Given the description of an element on the screen output the (x, y) to click on. 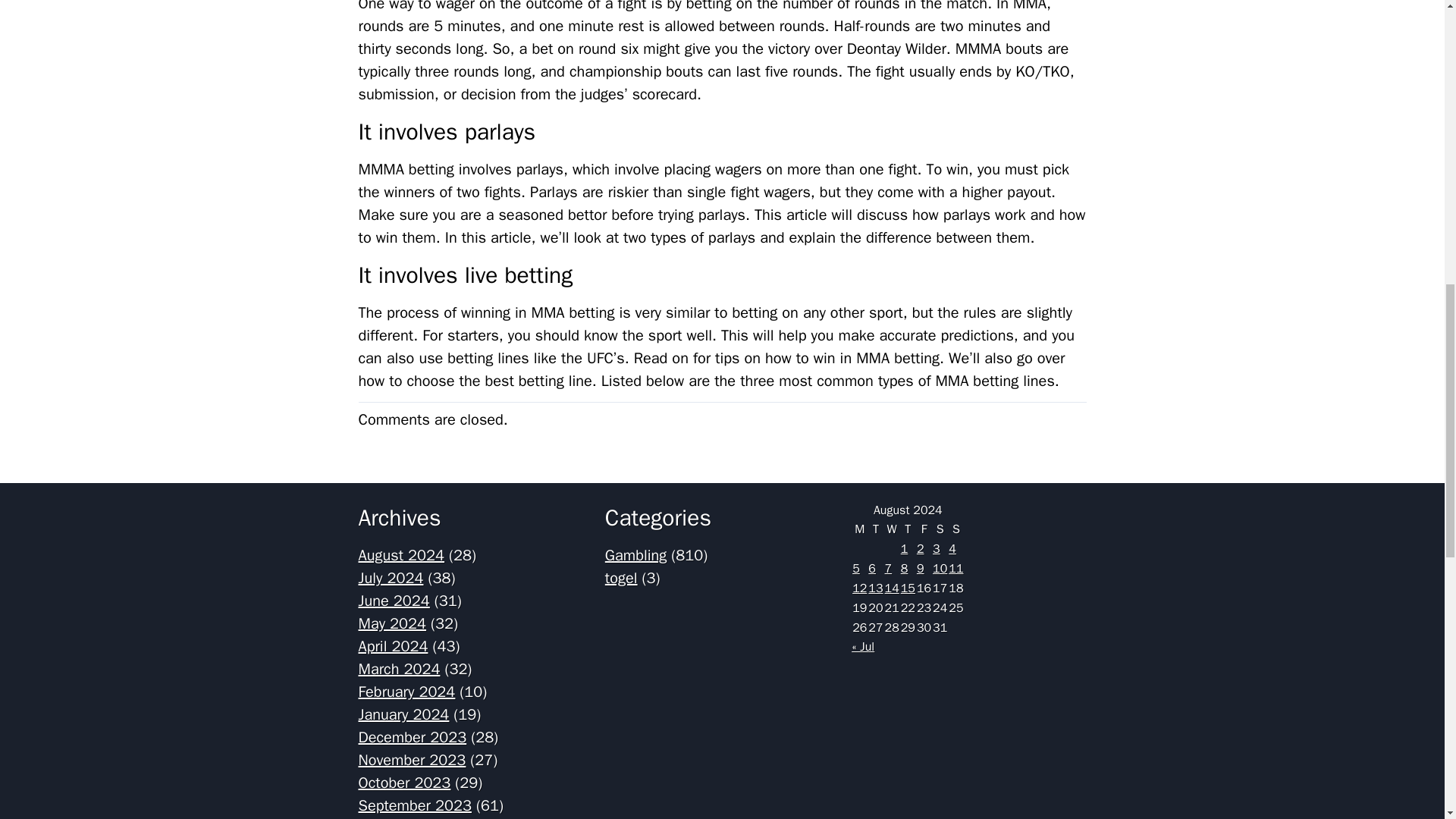
April 2024 (393, 646)
November 2023 (411, 760)
October 2023 (403, 782)
togel (621, 578)
December 2023 (411, 737)
September 2023 (414, 805)
January 2024 (403, 714)
July 2024 (390, 578)
August 2024 (401, 555)
February 2024 (406, 691)
